Given the description of an element on the screen output the (x, y) to click on. 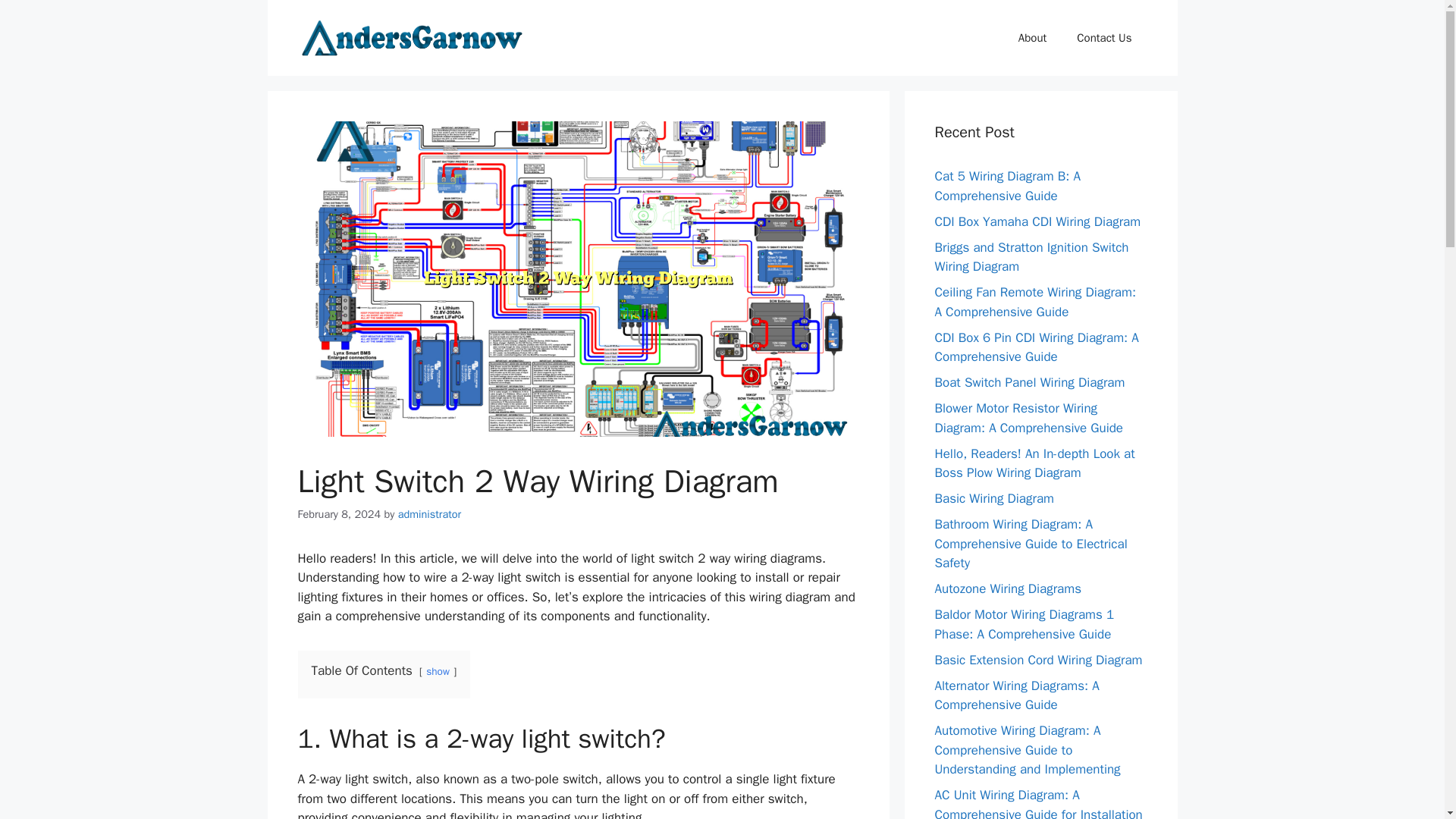
Contact Us (1104, 37)
CDI Box 6 Pin CDI Wiring Diagram: A Comprehensive Guide (1036, 346)
About (1032, 37)
Ceiling Fan Remote Wiring Diagram: A Comprehensive Guide (1034, 302)
Basic Extension Cord Wiring Diagram (1037, 659)
show (437, 671)
View all posts by administrator (429, 513)
Baldor Motor Wiring Diagrams 1 Phase: A Comprehensive Guide (1023, 624)
Cat 5 Wiring Diagram B: A Comprehensive Guide (1007, 185)
Hello, Readers! An In-depth Look at Boss Plow Wiring Diagram (1034, 463)
CDI Box Yamaha CDI Wiring Diagram (1037, 221)
Boat Switch Panel Wiring Diagram (1029, 382)
Basic Wiring Diagram (994, 498)
